Given the description of an element on the screen output the (x, y) to click on. 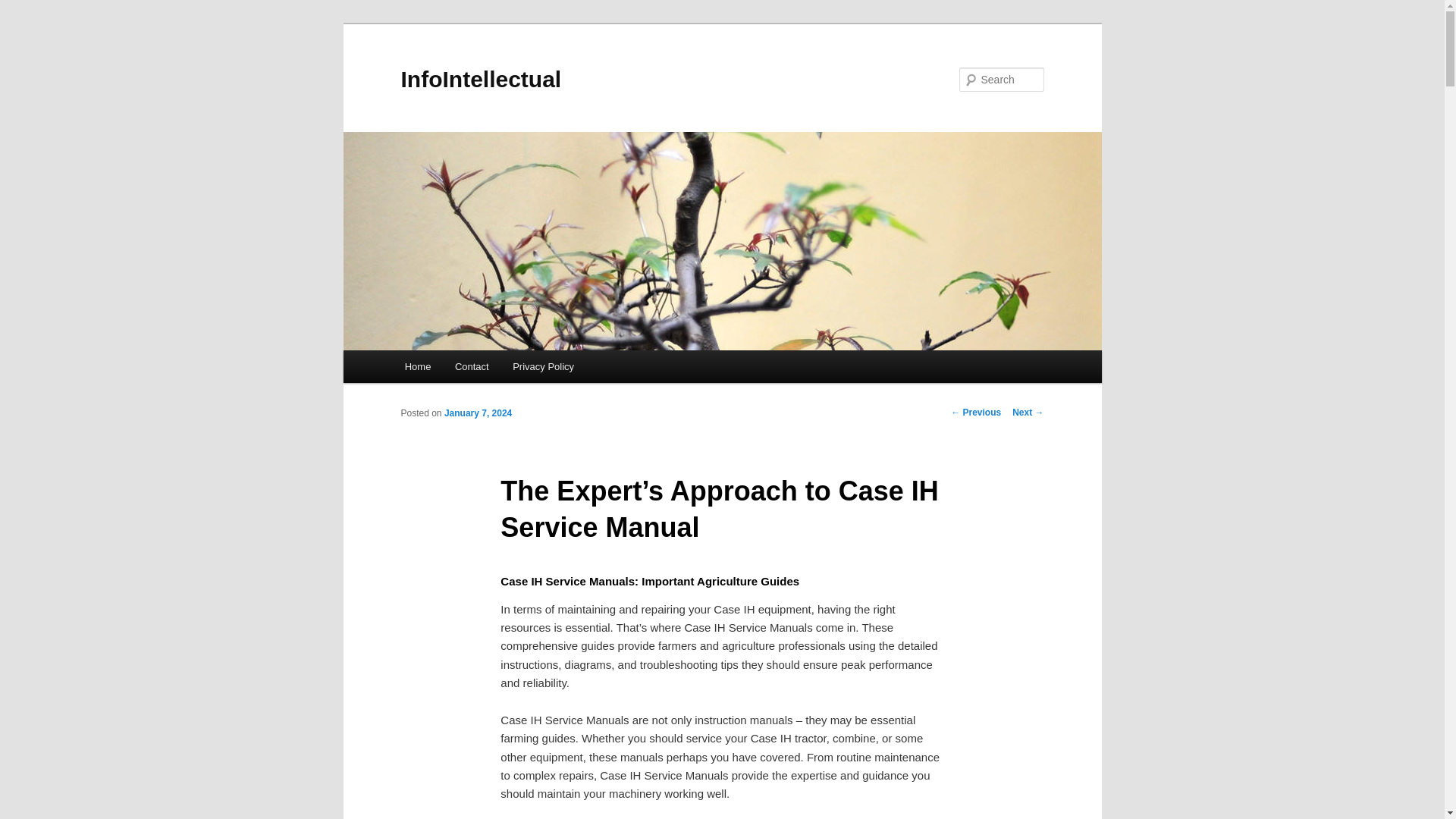
9:39 pm (478, 412)
Privacy Policy (542, 366)
Home (417, 366)
InfoIntellectual (480, 78)
Search (24, 8)
Contact (471, 366)
January 7, 2024 (478, 412)
